Given the description of an element on the screen output the (x, y) to click on. 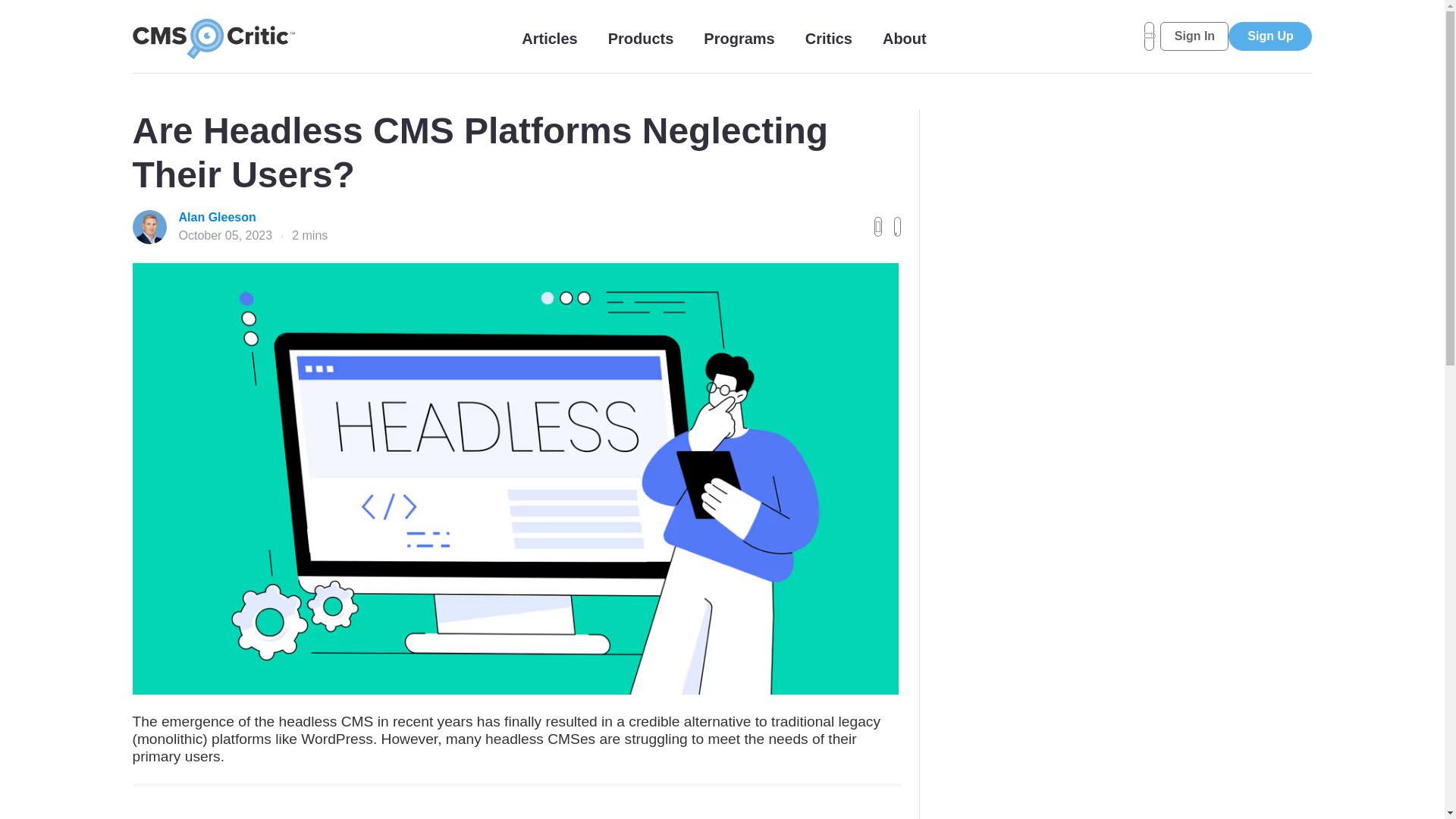
Articles (548, 38)
Programs (738, 38)
Products (641, 38)
Sign In (1194, 36)
Sign Up (1269, 36)
About (904, 38)
Critics (828, 38)
Alan Gleeson (254, 217)
